Given the description of an element on the screen output the (x, y) to click on. 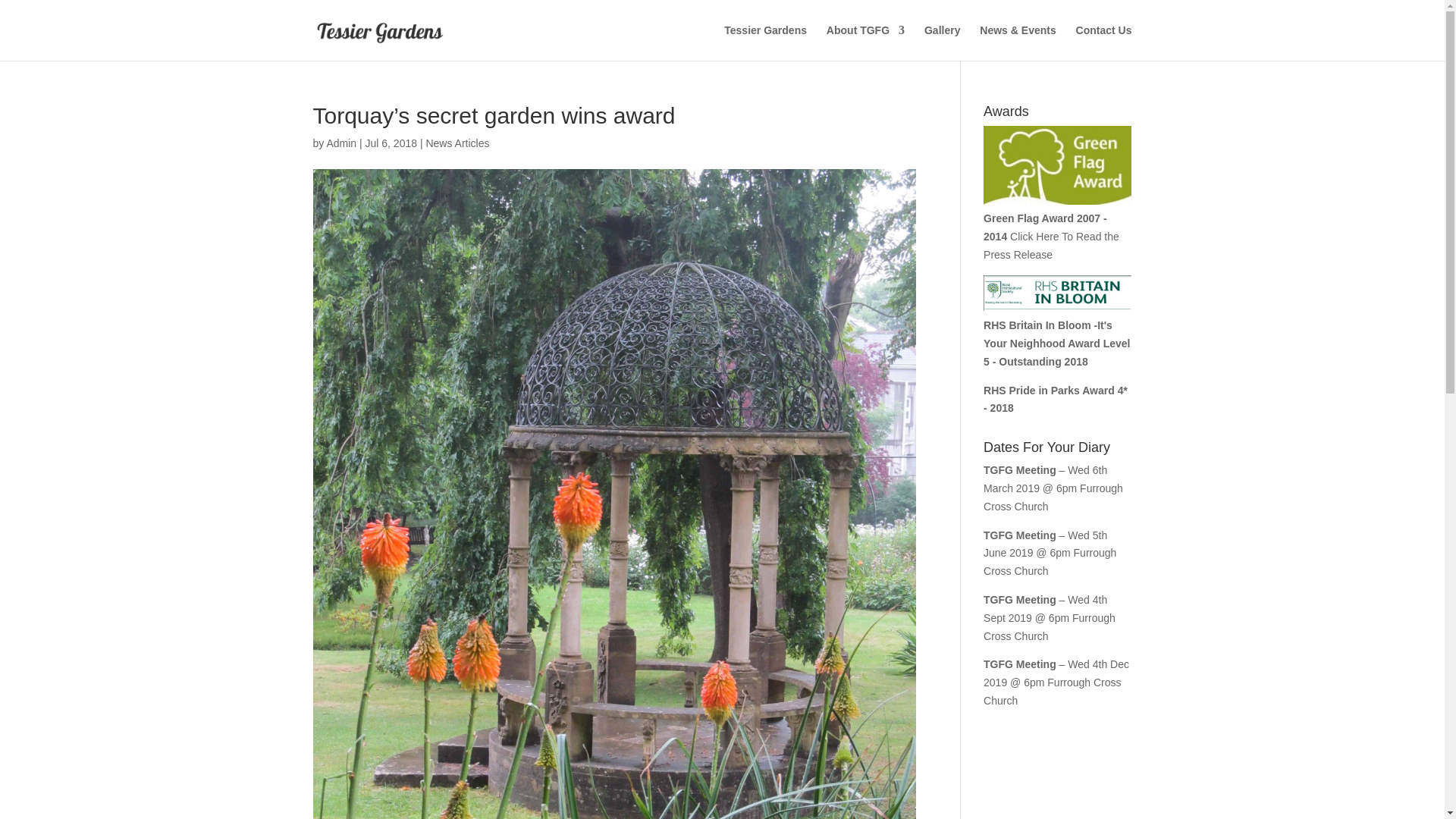
Contact Us (1103, 42)
Posts by Admin (341, 143)
About TGFG (865, 42)
News Articles (457, 143)
Admin (341, 143)
Click Here To Read the Press Release (1051, 245)
Gallery (941, 42)
Tessier Gardens (764, 42)
